Given the description of an element on the screen output the (x, y) to click on. 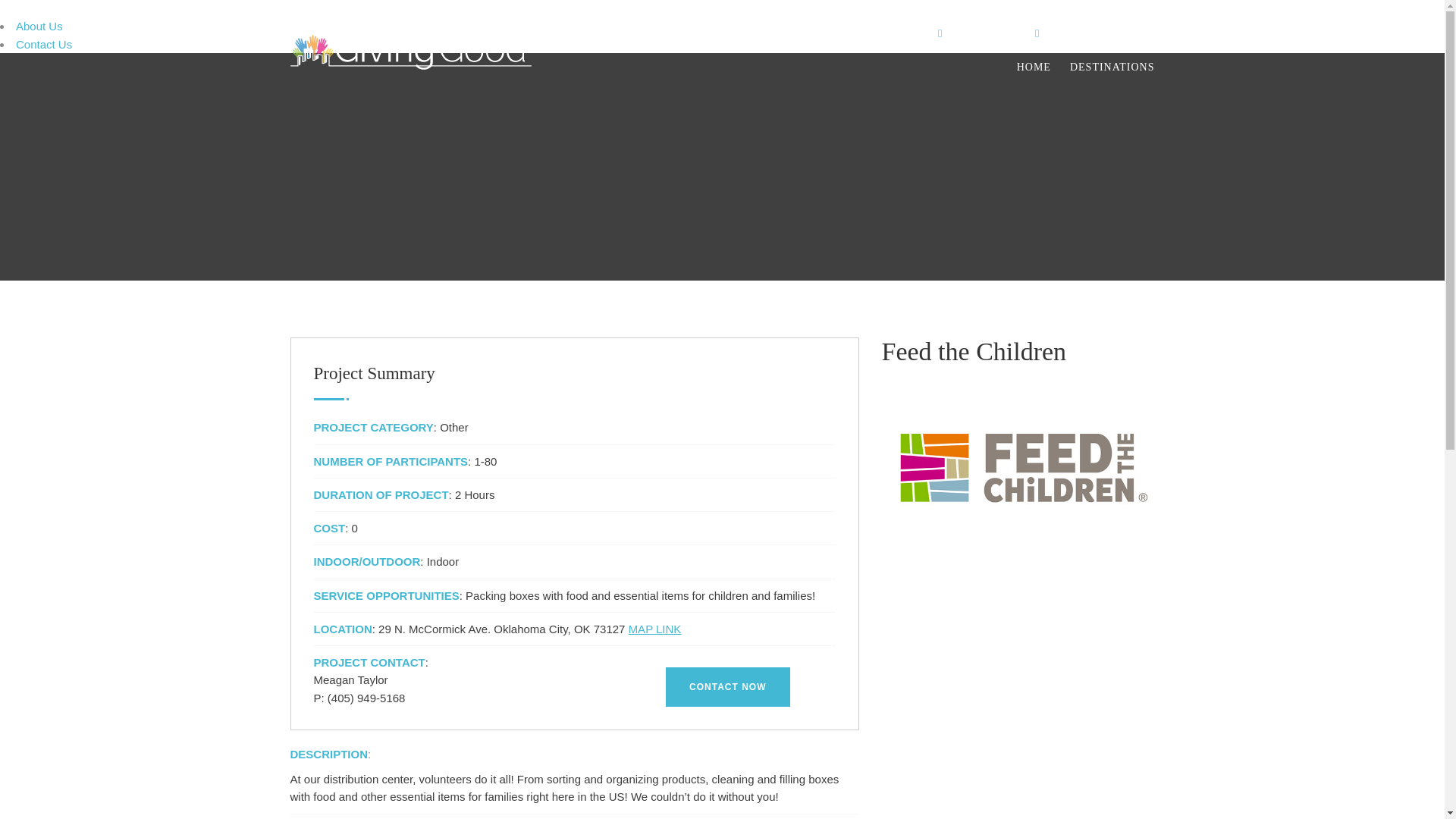
DESTINATIONS (1112, 67)
HOME (1033, 67)
